Given the description of an element on the screen output the (x, y) to click on. 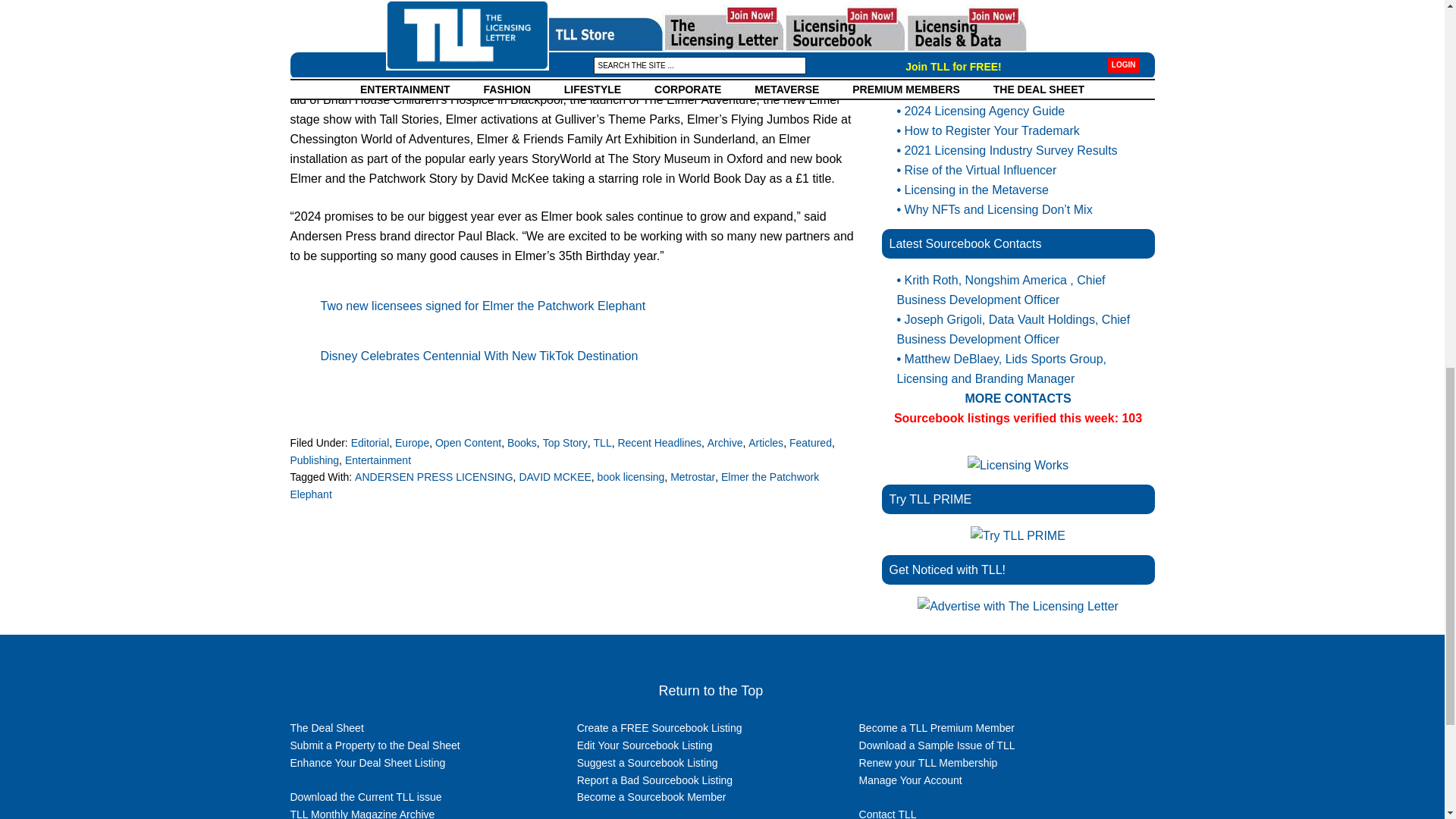
ANDERSEN PRESS LICENSING (434, 476)
Recent Headlines (659, 442)
Open Content (467, 442)
Editorial (370, 442)
Featured (810, 442)
Books (1017, 10)
Archive (521, 442)
Two new licensees signed for Elmer the Patchwork Elephant (724, 442)
Review or Change Your Membership (482, 305)
